Given the description of an element on the screen output the (x, y) to click on. 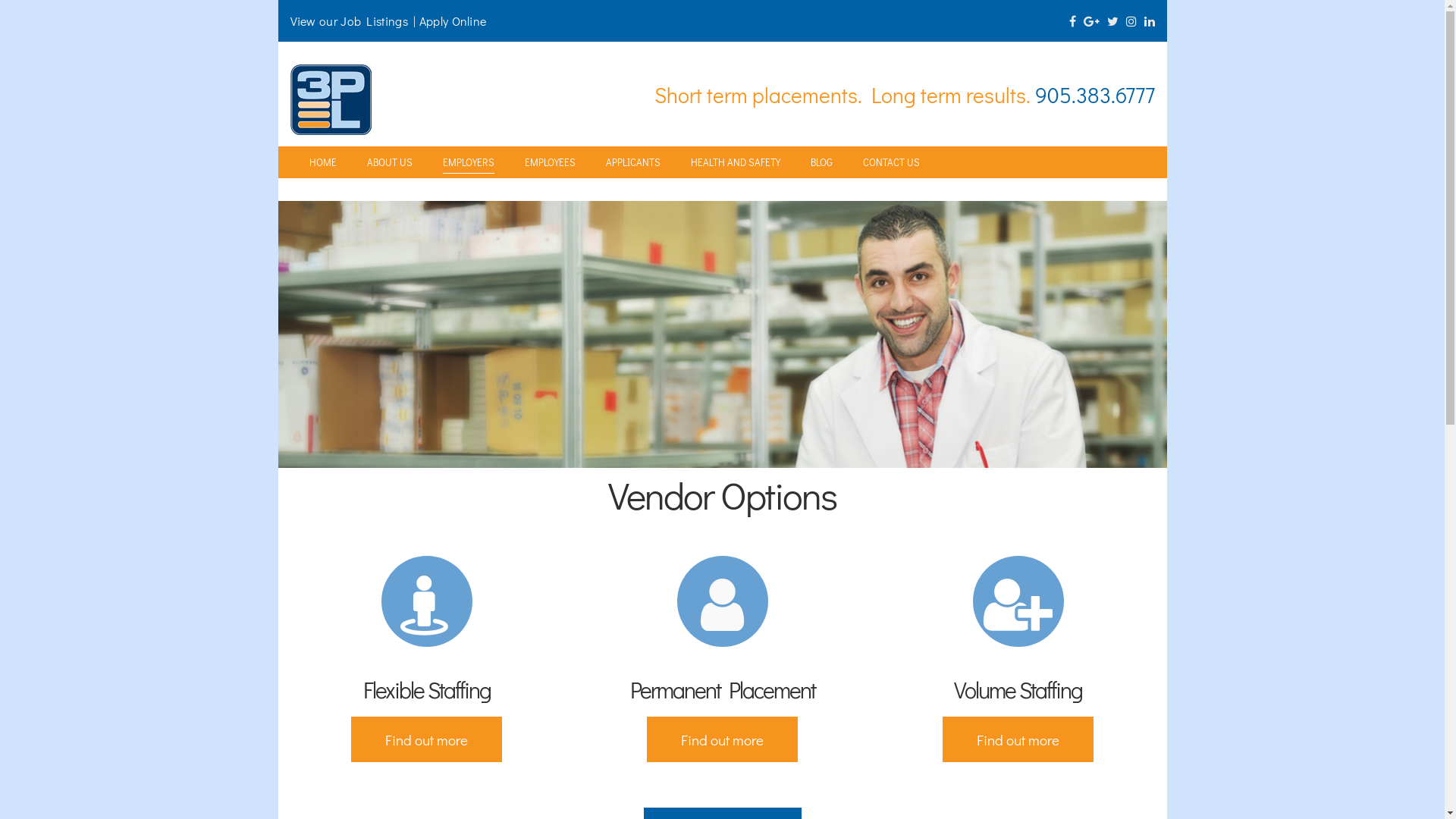
Find out more Element type: text (426, 739)
EMPLOYEES Element type: text (549, 161)
Apply Online Element type: text (452, 20)
HOME Element type: text (322, 161)
BLOG Element type: text (820, 161)
CONTACT US Element type: text (890, 161)
Find out more Element type: text (721, 739)
APPLICANTS Element type: text (632, 161)
Find out more Element type: text (1017, 739)
ABOUT US Element type: text (389, 161)
EMPLOYERS Element type: text (468, 161)
HEALTH AND SAFETY Element type: text (734, 161)
View our Job Listings Element type: text (348, 20)
905.383.6777 Element type: text (1094, 94)
